Given the description of an element on the screen output the (x, y) to click on. 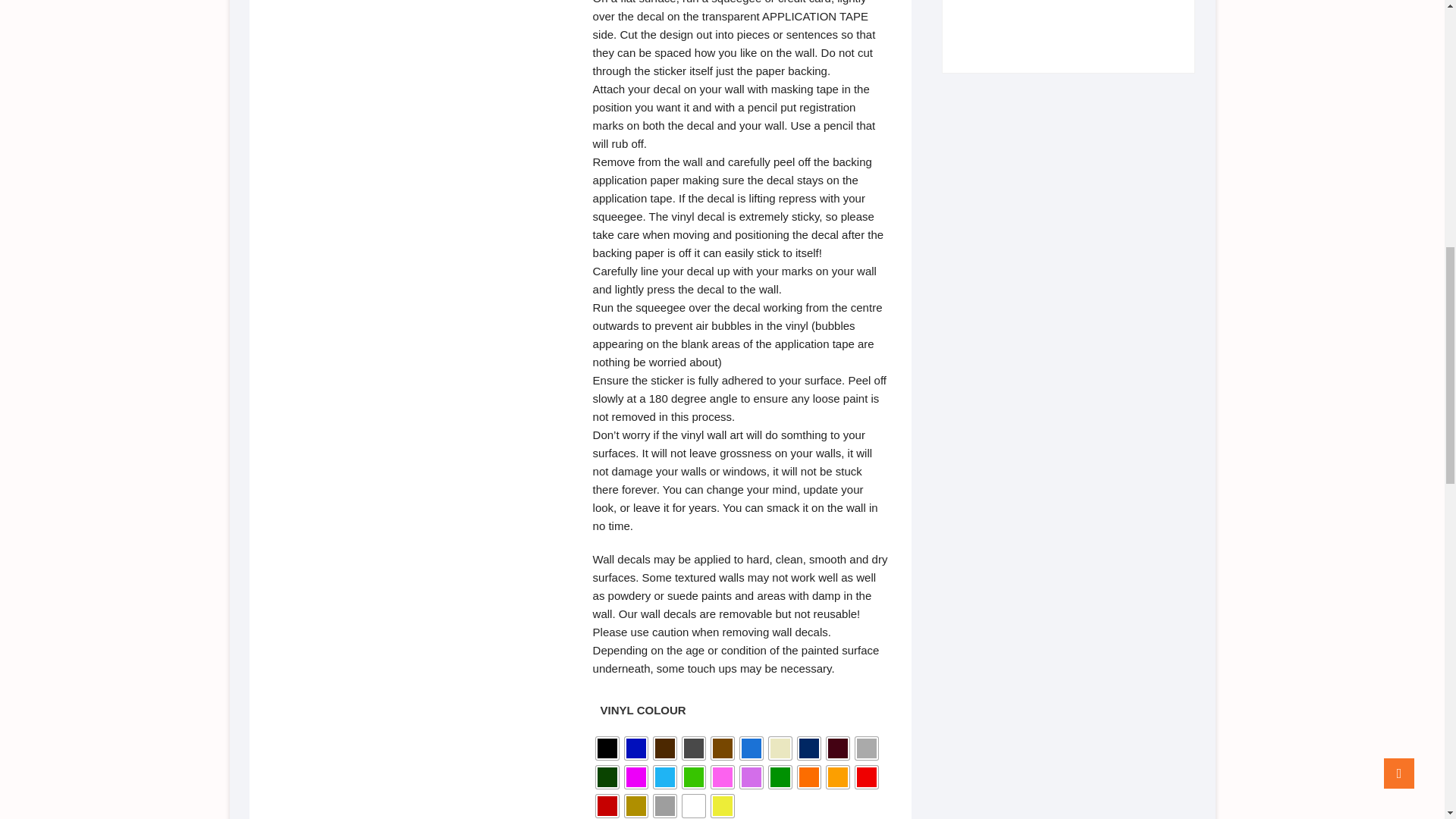
Blue (635, 748)
Cinnamon (722, 748)
Brown (665, 748)
Dark Blue (809, 748)
Dark Burgundy (837, 748)
Cream (780, 748)
Black (606, 748)
Forest Green (606, 776)
Fuschia (635, 776)
Dove Grey (866, 748)
